Given the description of an element on the screen output the (x, y) to click on. 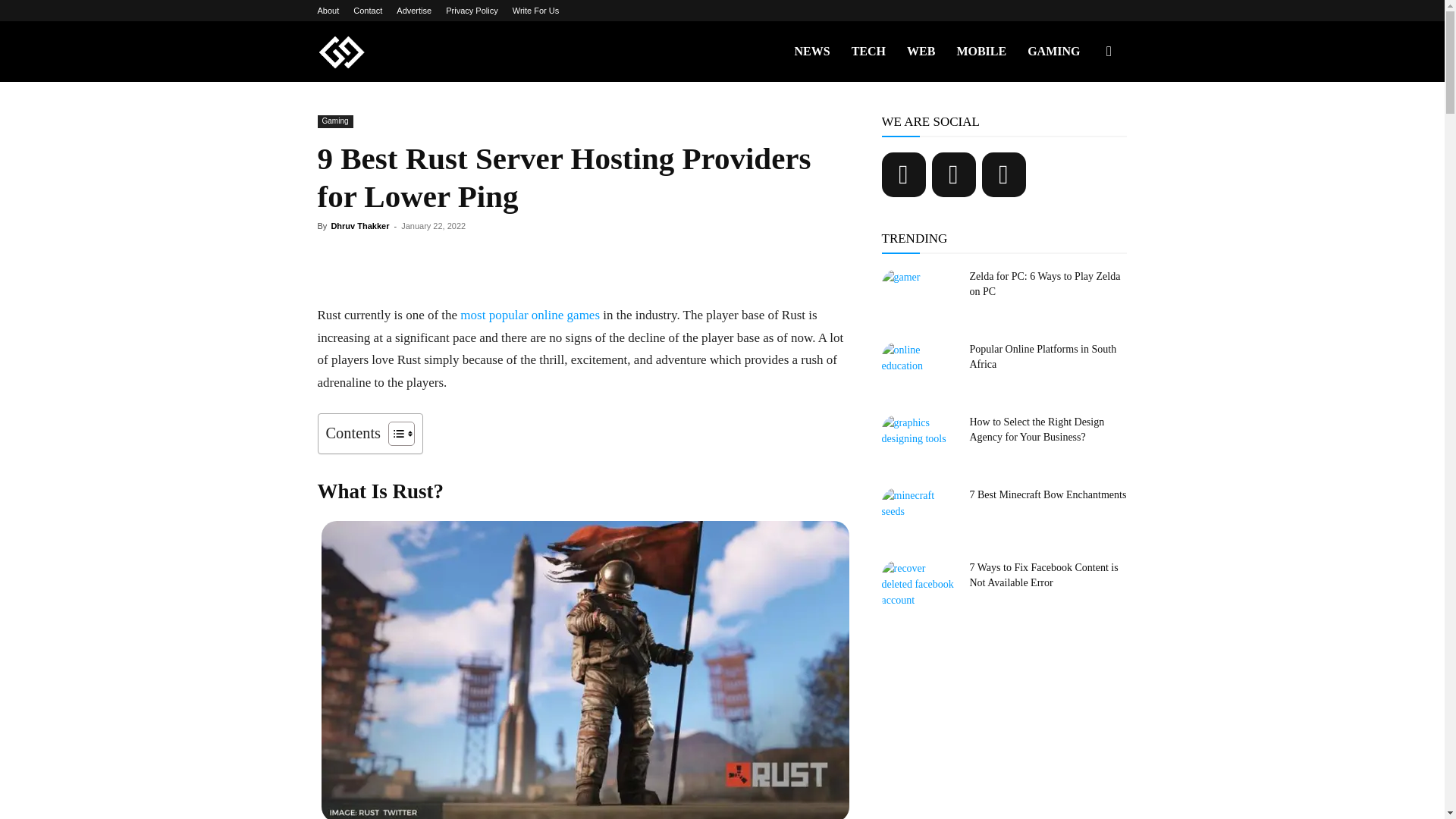
MOBILE (980, 51)
Contact (367, 10)
Gaming (334, 121)
Write For Us (535, 10)
Search (1085, 124)
About (328, 10)
GAMING (1053, 51)
Dhruv Thakker (359, 225)
TECH (868, 51)
Privacy Policy (471, 10)
